Given the description of an element on the screen output the (x, y) to click on. 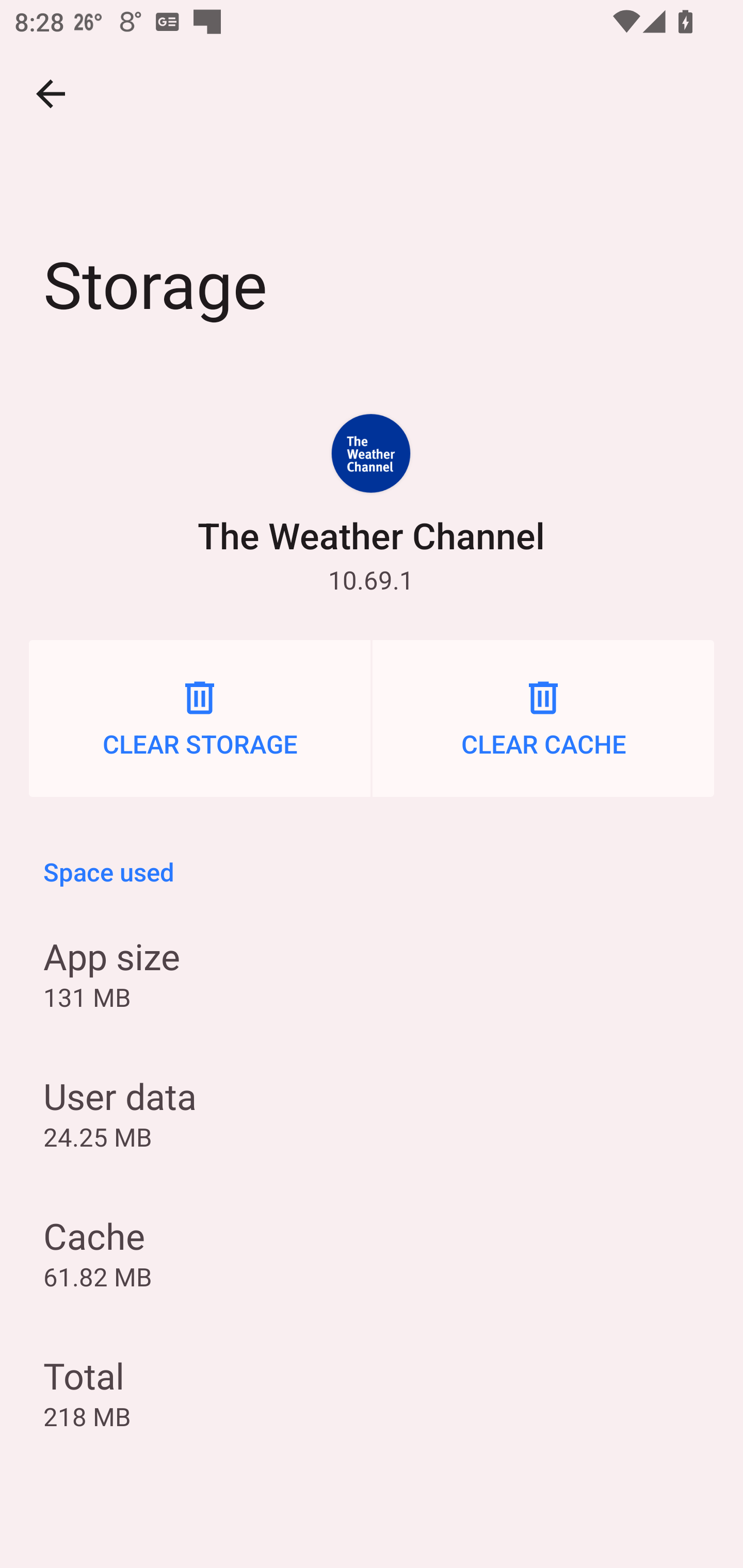
Navigate up (50, 93)
The Weather Channel 10.69.1 (370, 503)
CLEAR STORAGE (199, 717)
CLEAR CACHE (543, 717)
